Given the description of an element on the screen output the (x, y) to click on. 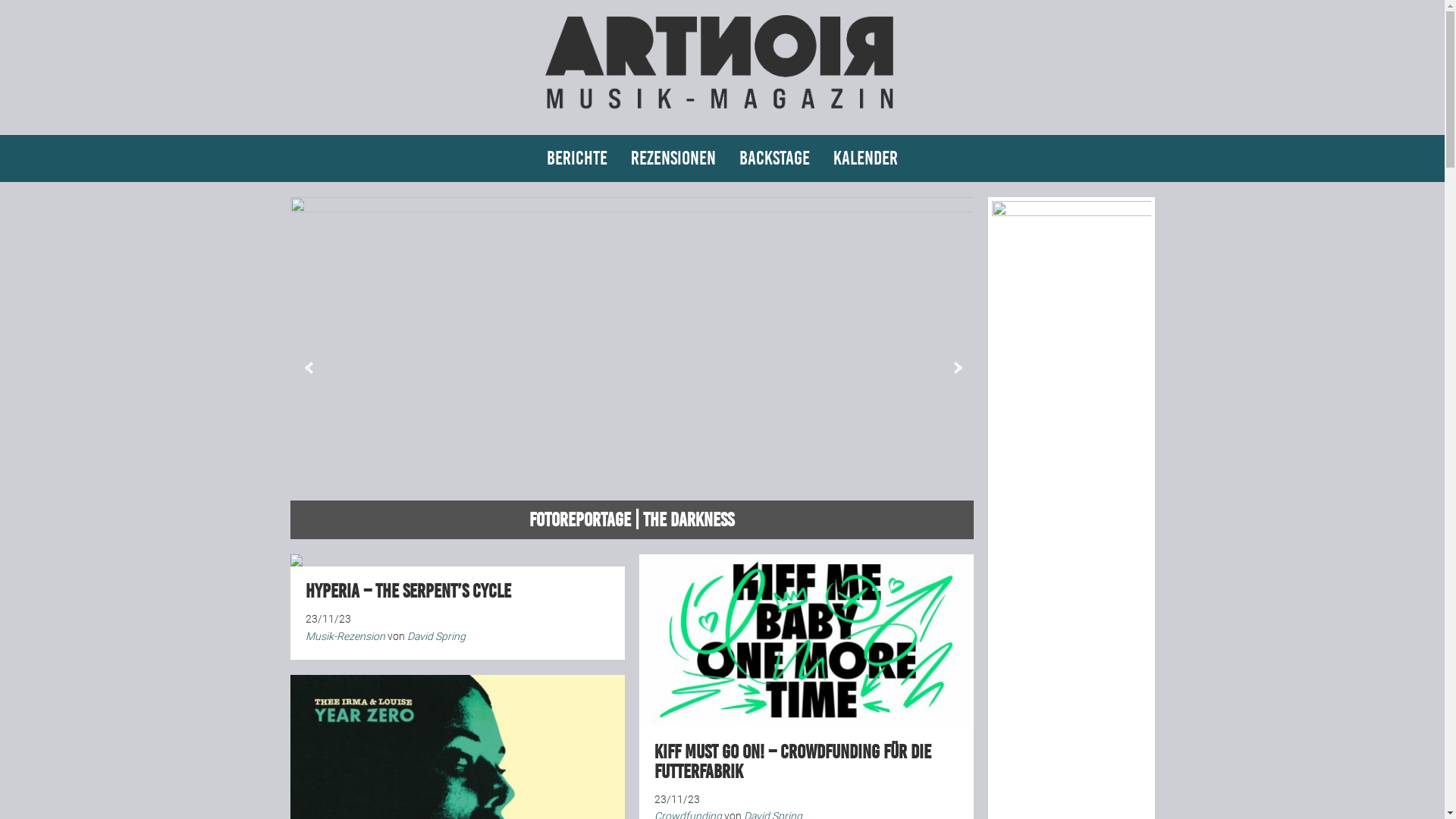
ARTNOIR Element type: hover (721, 115)
Prev Element type: text (309, 367)
Kalender Element type: text (865, 158)
Next Element type: text (956, 367)
Musik-Rezension Element type: text (344, 636)
David Spring Element type: text (435, 636)
Suchen nach: Element type: hover (1135, 164)
Fotoreportage | The Darkness Element type: text (631, 368)
Rezensionen Element type: text (673, 158)
Suchen Element type: text (0, 0)
Backstage Element type: text (774, 158)
Berichte Element type: text (577, 158)
